Given the description of an element on the screen output the (x, y) to click on. 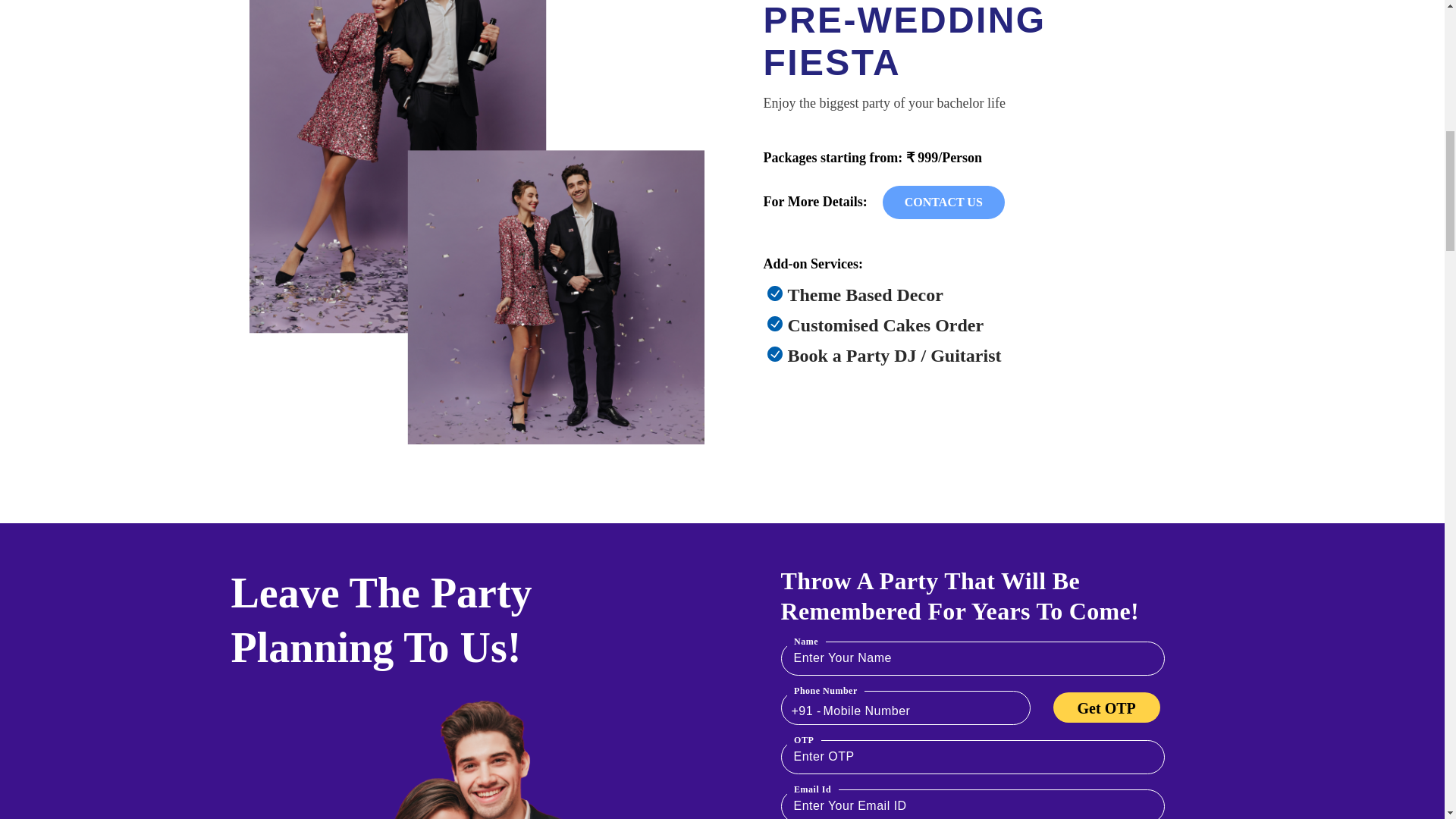
CONTACT US (943, 201)
Get OTP (1106, 707)
CONTACT US (943, 202)
